Given the description of an element on the screen output the (x, y) to click on. 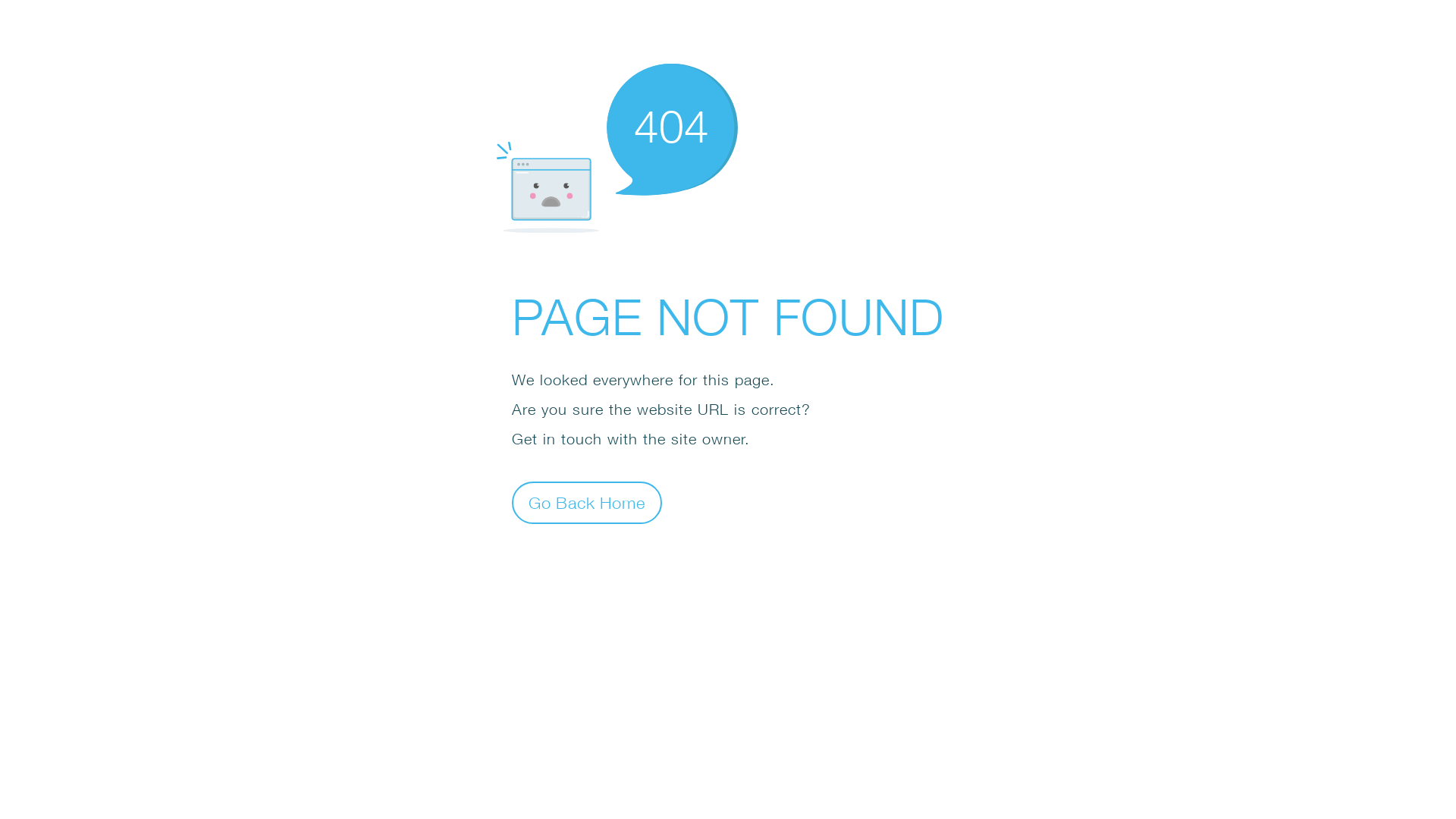
Go Back Home Element type: text (586, 502)
